Given the description of an element on the screen output the (x, y) to click on. 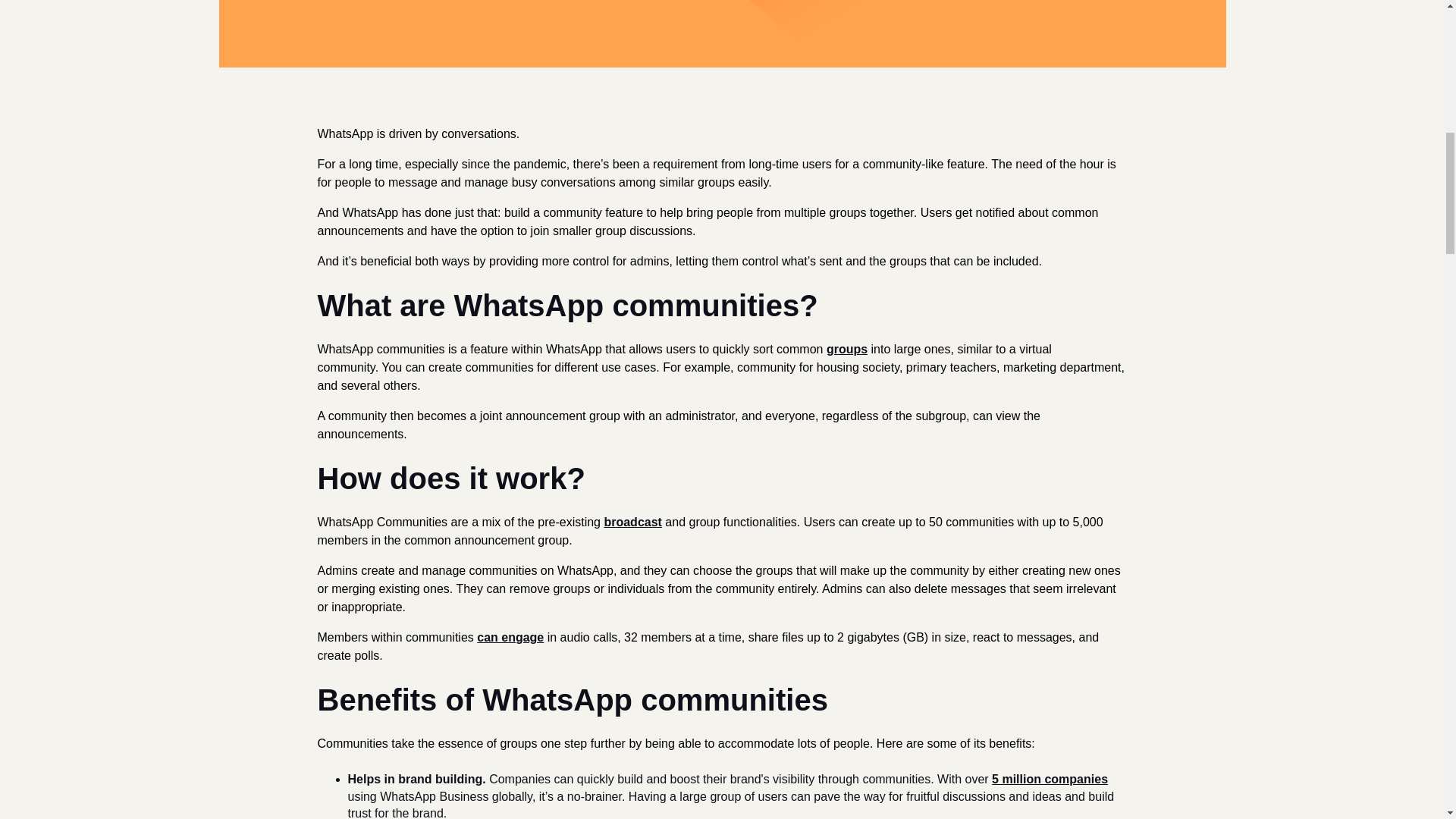
can engage (510, 636)
groups (847, 349)
5 million companies (1049, 779)
broadcast (632, 521)
